Given the description of an element on the screen output the (x, y) to click on. 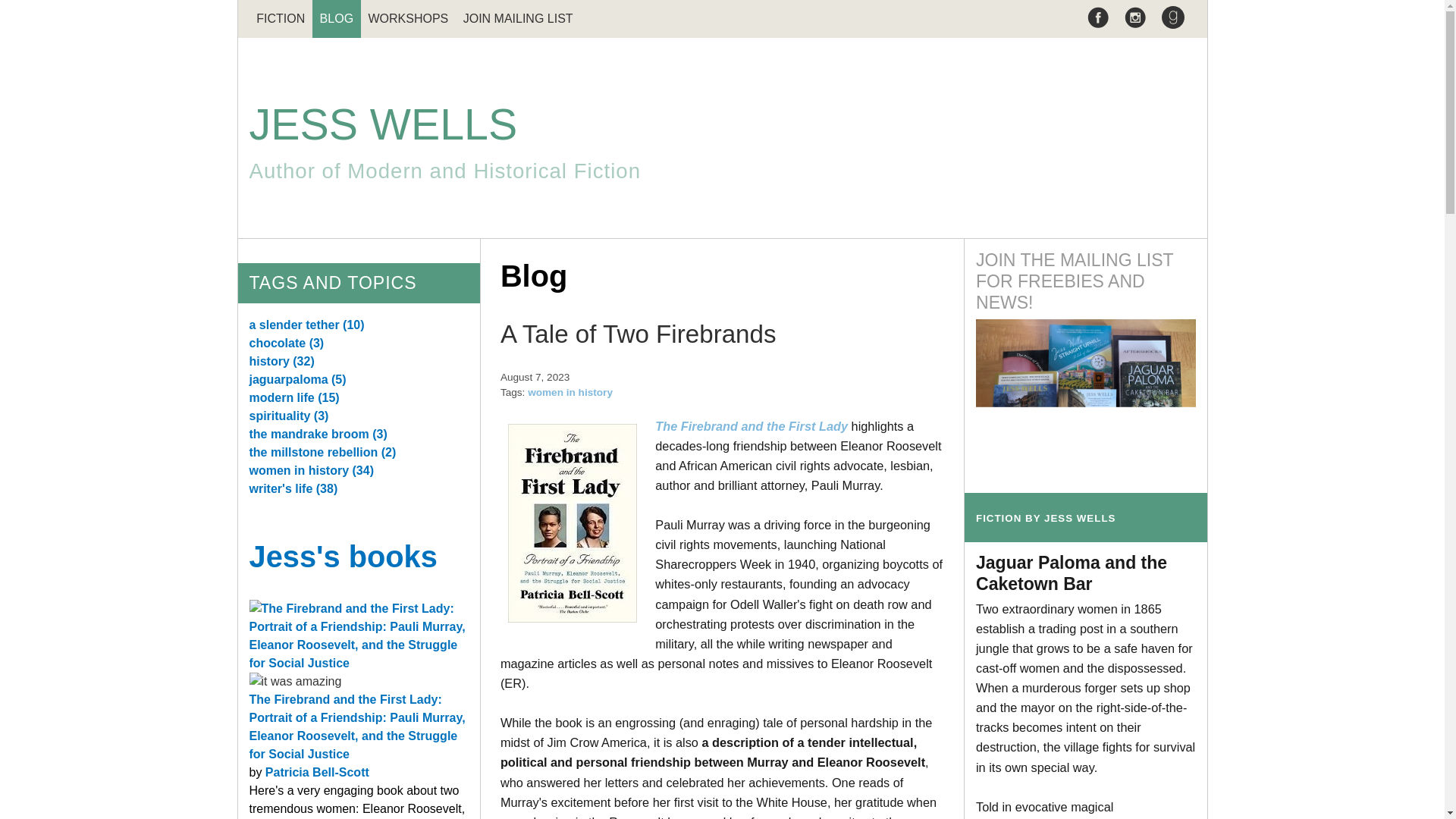
JOIN MAILING LIST (517, 18)
WORKSHOPS (408, 18)
FICTION (279, 18)
it was amazing (294, 680)
Patricia Bell-Scott (721, 140)
BLOG (316, 771)
Jess's books (337, 18)
